Given the description of an element on the screen output the (x, y) to click on. 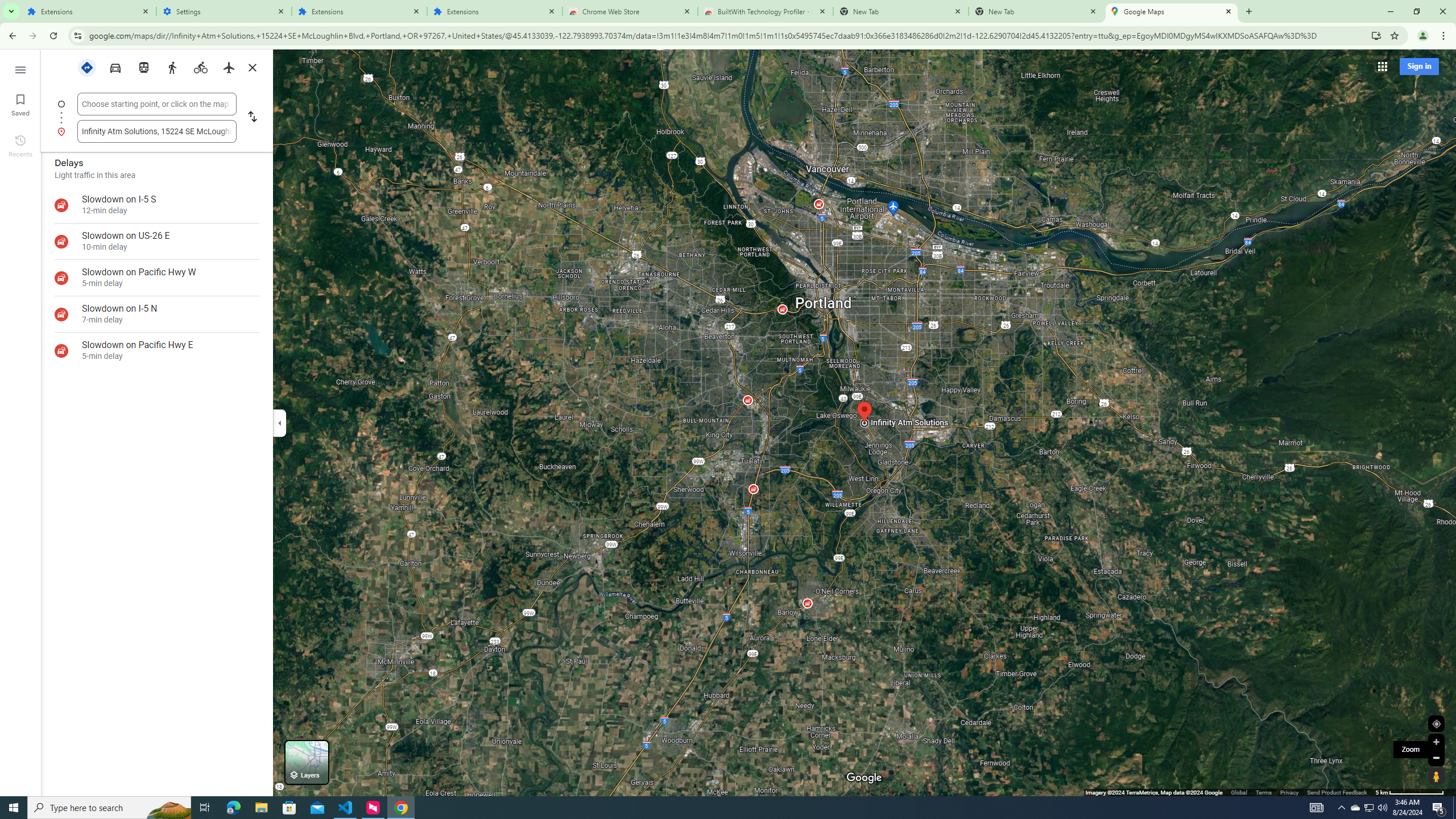
Layers (306, 762)
Extensions (88, 11)
Zoom out (1436, 757)
Best travel modes (87, 66)
Chrome Web Store (630, 11)
Cycling (200, 66)
Driving (115, 67)
